Given the description of an element on the screen output the (x, y) to click on. 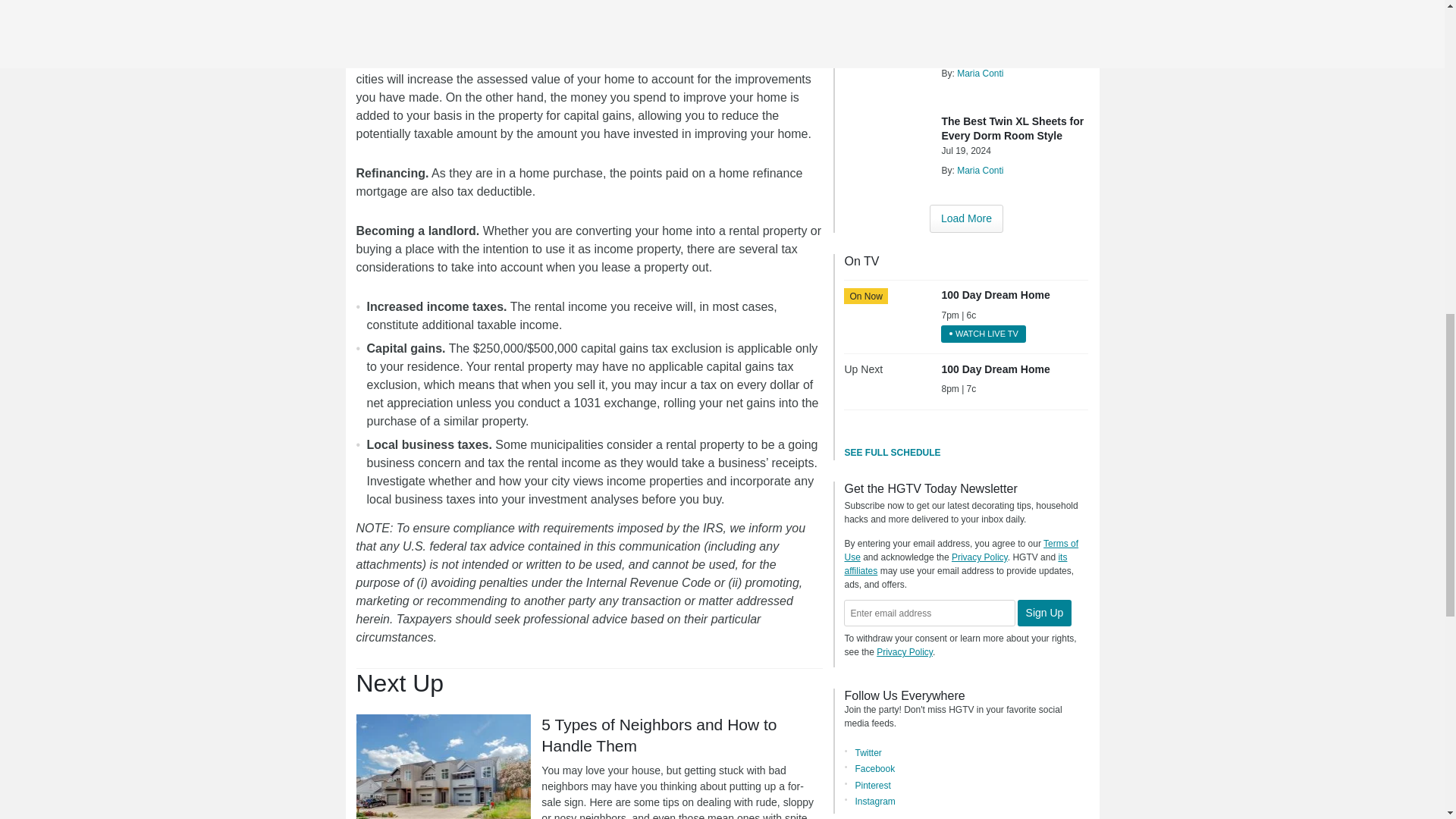
5 Types of Neighbors and How to Handle Them (443, 766)
